Given the description of an element on the screen output the (x, y) to click on. 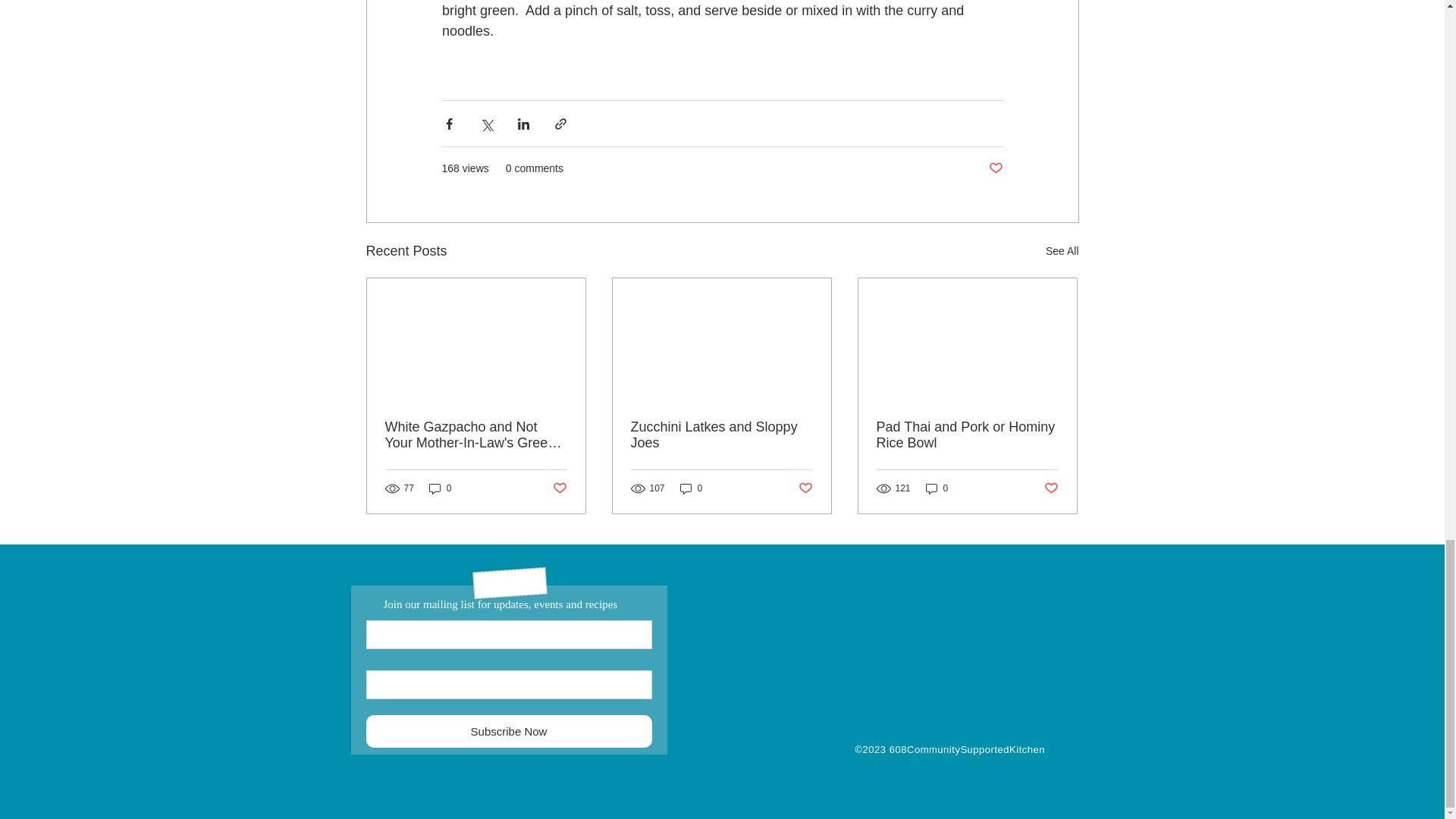
0 (440, 488)
Zucchini Latkes and Sloppy Joes (721, 435)
Subscribe Now (507, 730)
Pad Thai and Pork or Hominy Rice Bowl (967, 435)
0 (937, 488)
Post not marked as liked (558, 488)
Post not marked as liked (995, 168)
0 (691, 488)
Post not marked as liked (804, 488)
See All (1061, 251)
Post not marked as liked (1050, 488)
